Given the description of an element on the screen output the (x, y) to click on. 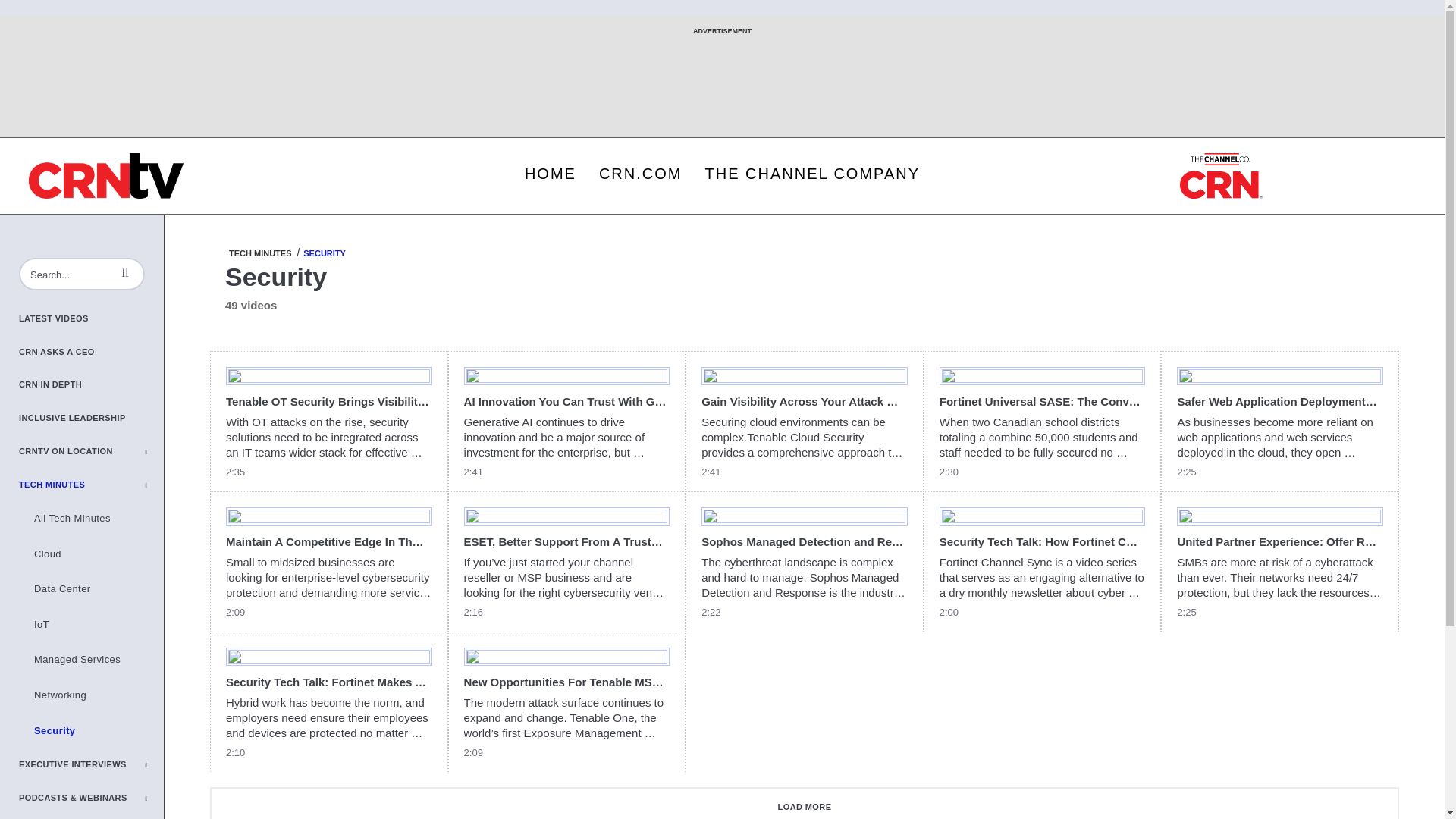
CRN ASKS A CEO (90, 352)
Data Center (90, 589)
THE CHANNEL COMPANY (812, 173)
CRN IN DEPTH (90, 385)
EXECUTIVE INTERVIEWS (90, 765)
All Tech Minutes (90, 519)
The Channel Company and CRNtv (106, 176)
Security (90, 731)
INCLUSIVE LEADERSHIP (90, 418)
LATEST VIDEOS (90, 318)
Managed Services (90, 660)
CRN (1220, 176)
HOME (550, 173)
IoT (90, 624)
Cloud (90, 554)
